Given the description of an element on the screen output the (x, y) to click on. 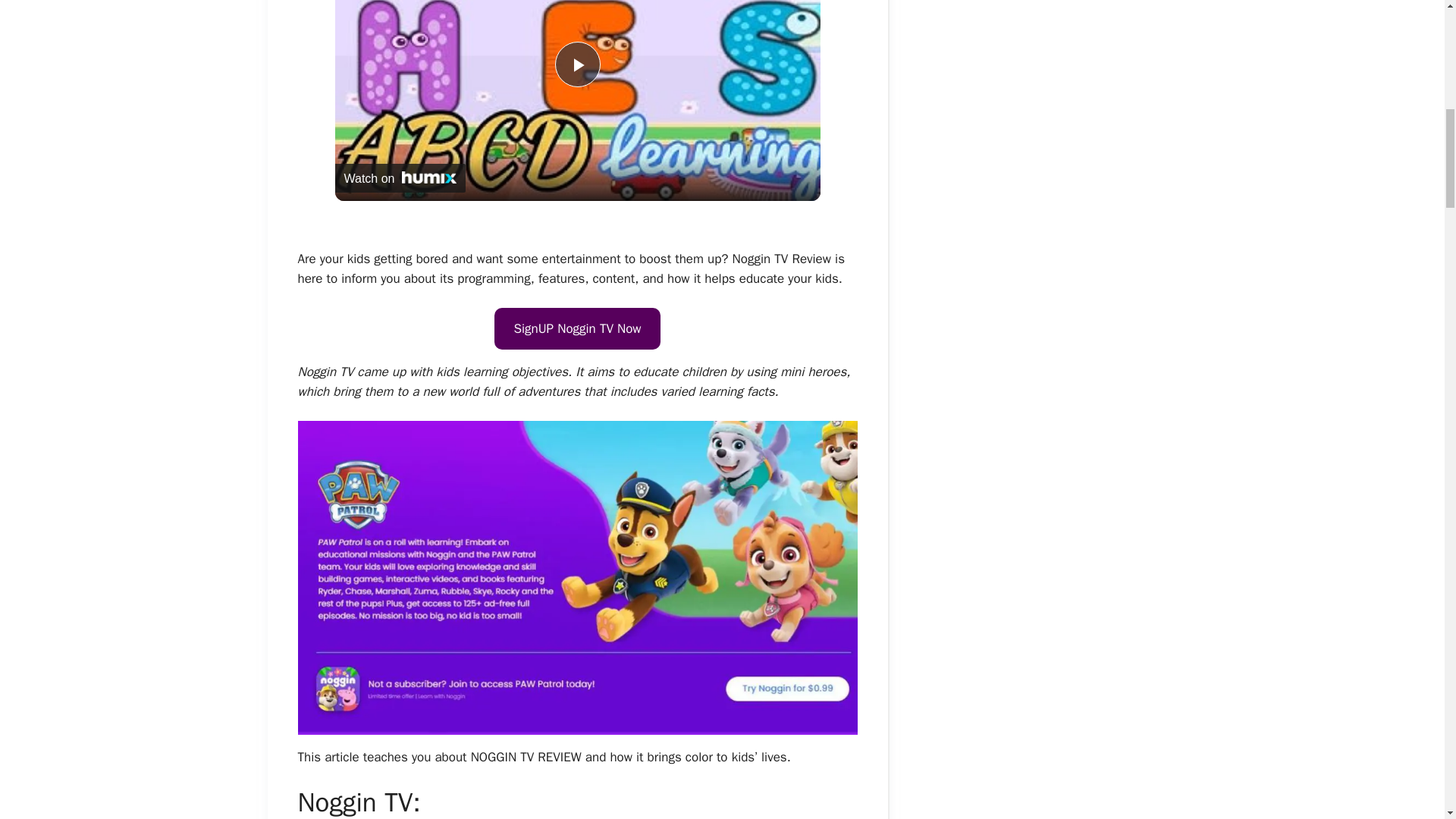
Play Video (576, 63)
Watch on (399, 177)
SignUP Noggin TV Now (577, 328)
Play Video (576, 63)
